Given the description of an element on the screen output the (x, y) to click on. 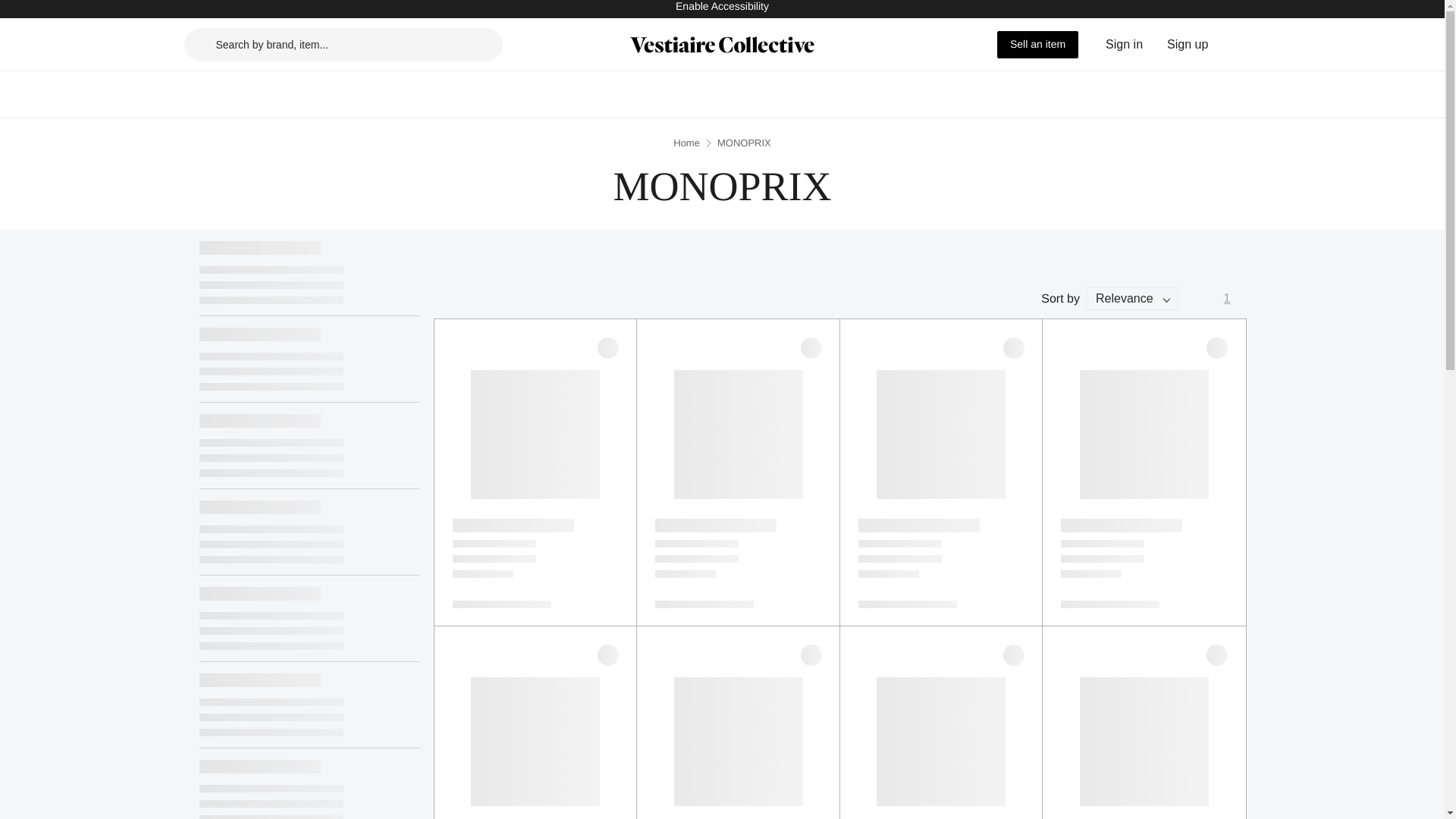
Sell an item (1037, 43)
Search by brand, item... (342, 43)
Relevance (1131, 298)
Sign in (1123, 44)
Home (686, 142)
Sign up (1187, 44)
